Given the description of an element on the screen output the (x, y) to click on. 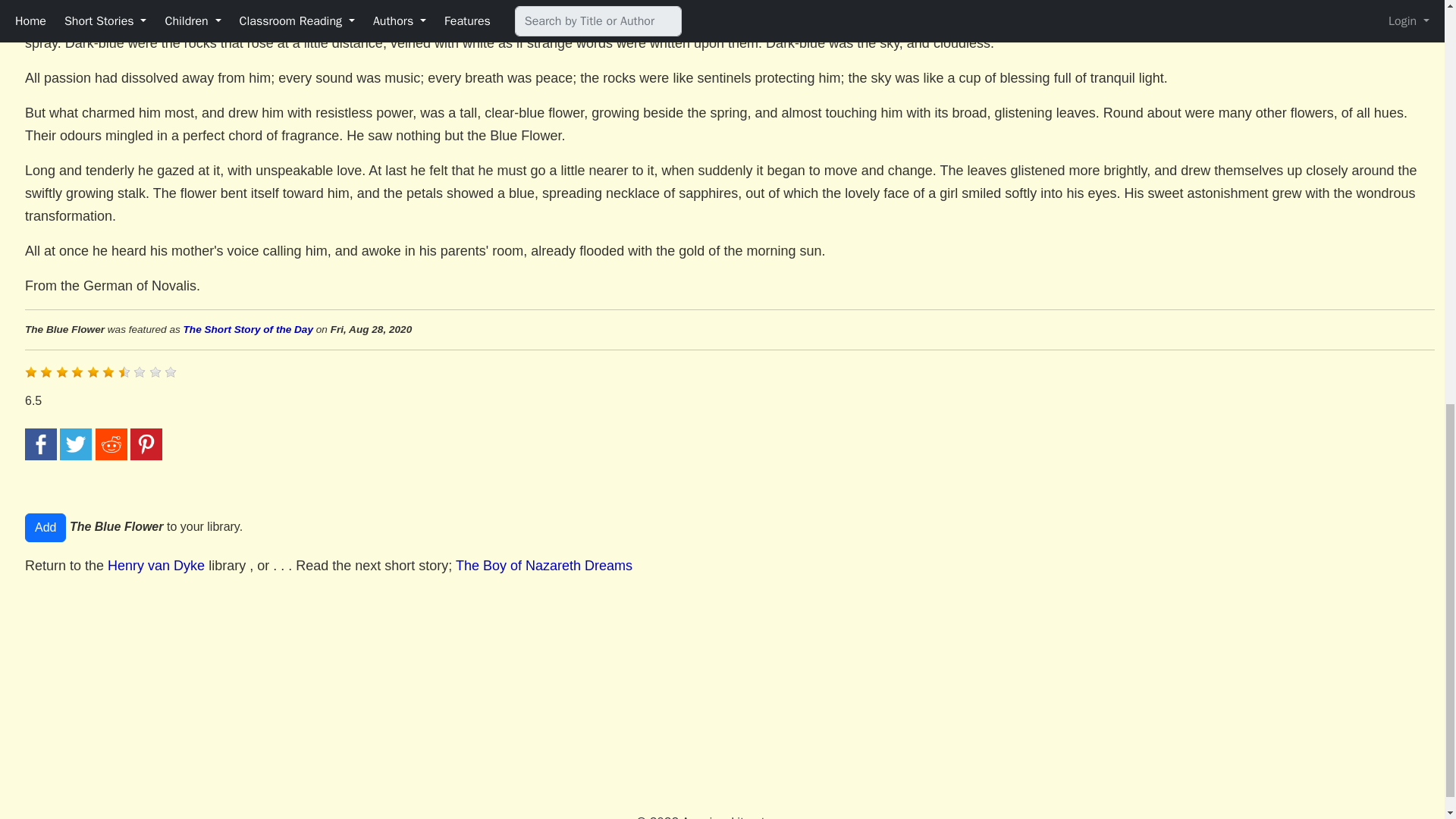
1 - Avoid  (30, 372)
10 - Absolutely Brilliant!  (170, 372)
8 - Very Good - Highly Recommended  (139, 372)
3 - Nothing Special  (62, 372)
6 - Pretty Good - read it  (108, 372)
4 - Okay  (76, 372)
7 - Very Good - recommended  (124, 372)
2 - Don't Read  (46, 372)
5 - Average - worth reading  (93, 372)
9 - Loved it!  (155, 372)
